Given the description of an element on the screen output the (x, y) to click on. 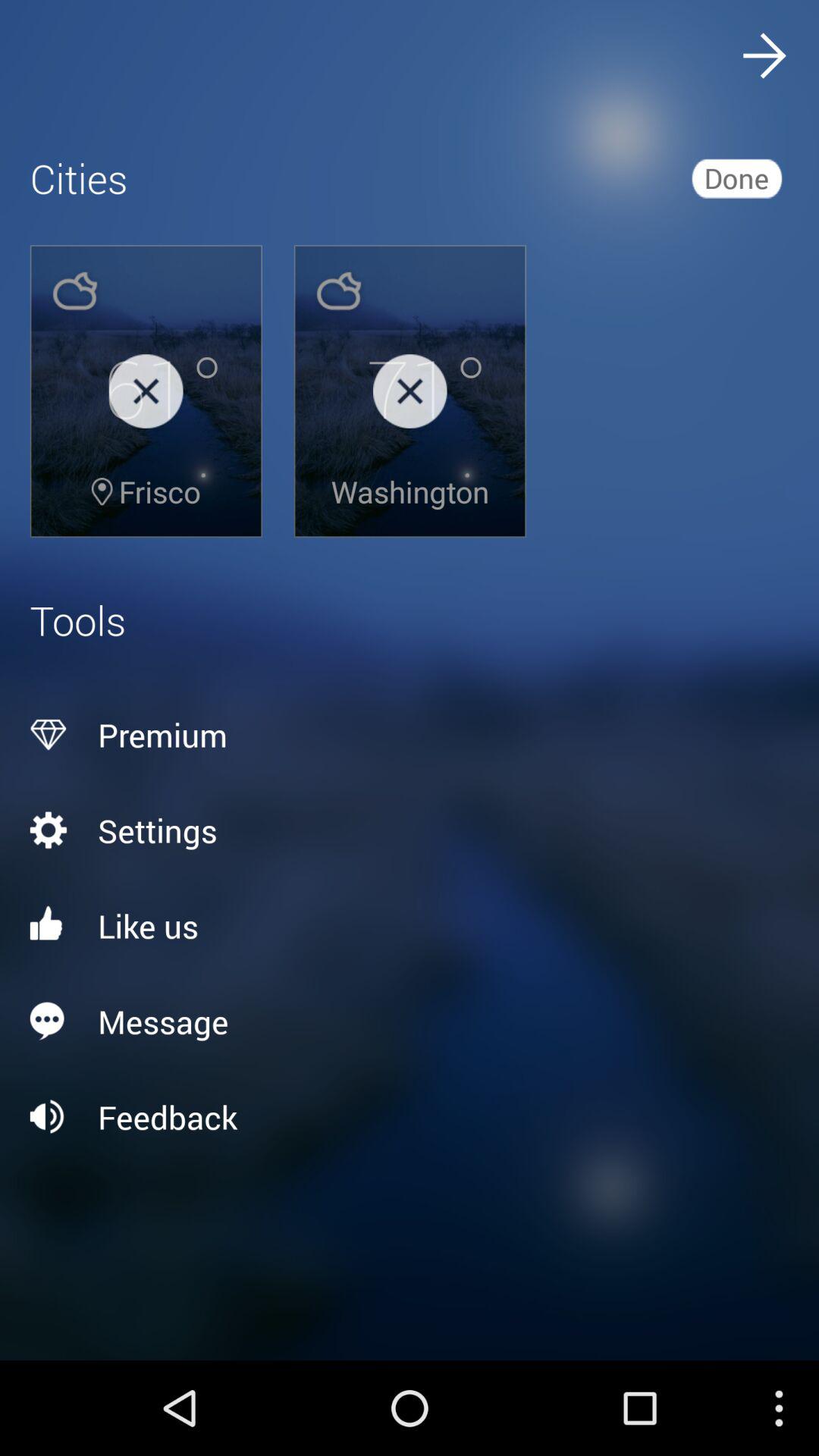
click on the button below premium (409, 830)
click on the button below like us (409, 1021)
click on the button next to cities (735, 177)
click on the button below messages (409, 1116)
click on the image above 71 in the second image (338, 290)
